Given the description of an element on the screen output the (x, y) to click on. 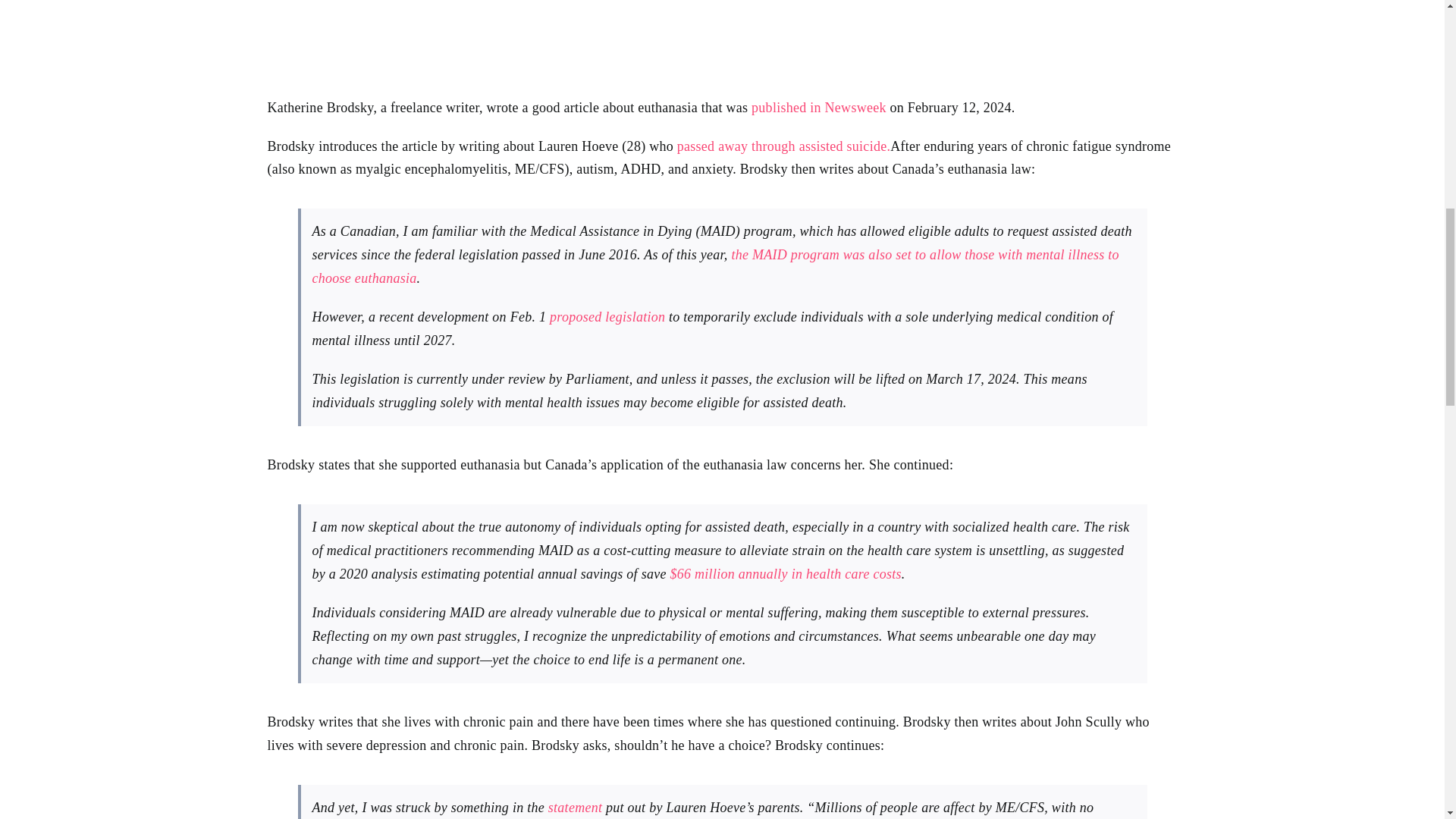
passed away through assisted suicide. (783, 145)
View Larger Image (721, 36)
proposed legislation (607, 316)
statement (575, 807)
published in Newsweek (818, 107)
